Given the description of an element on the screen output the (x, y) to click on. 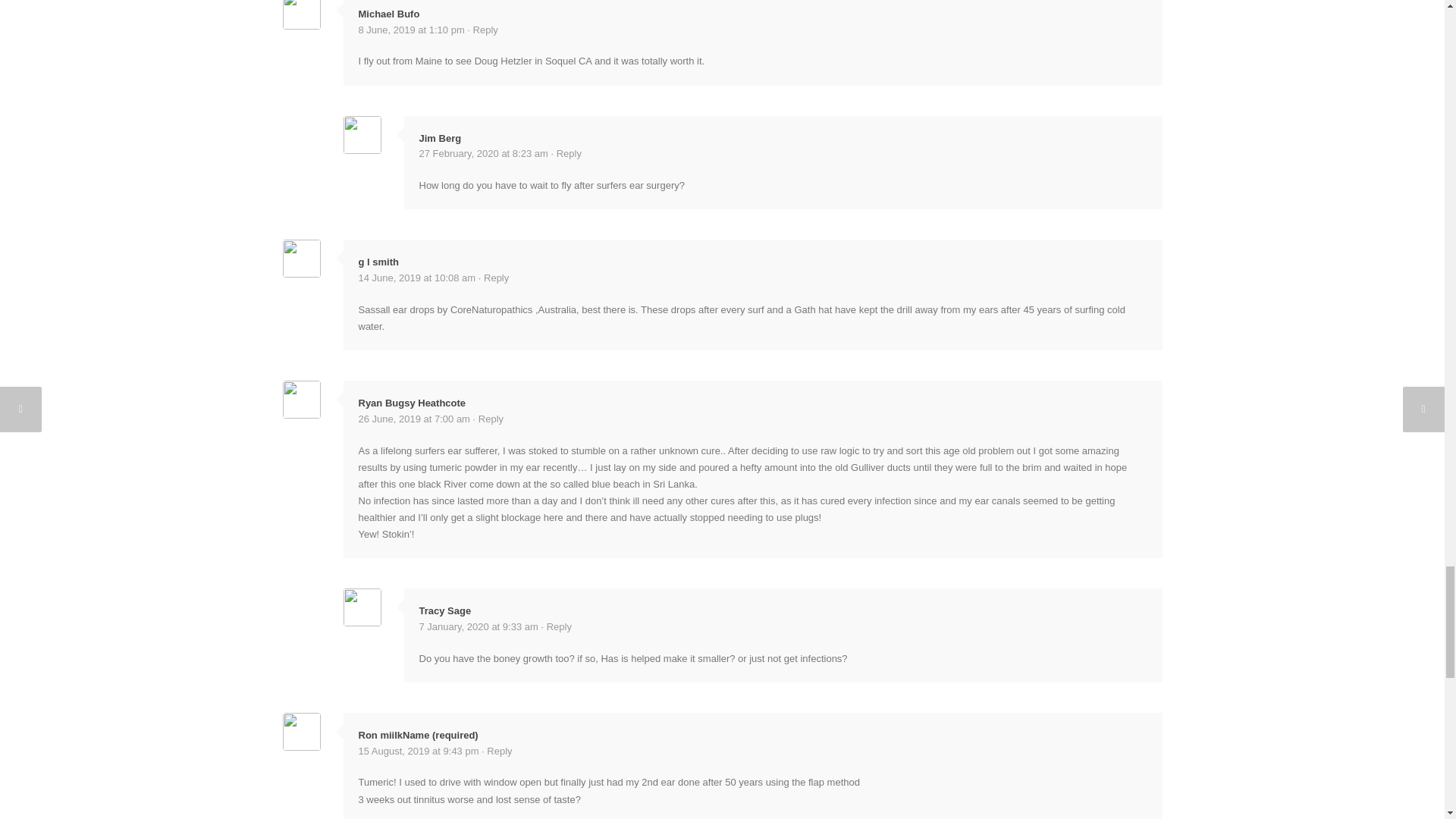
Reply (499, 750)
Reply (491, 419)
Reply (559, 626)
Reply (495, 277)
Reply (568, 153)
Reply (485, 30)
